Given the description of an element on the screen output the (x, y) to click on. 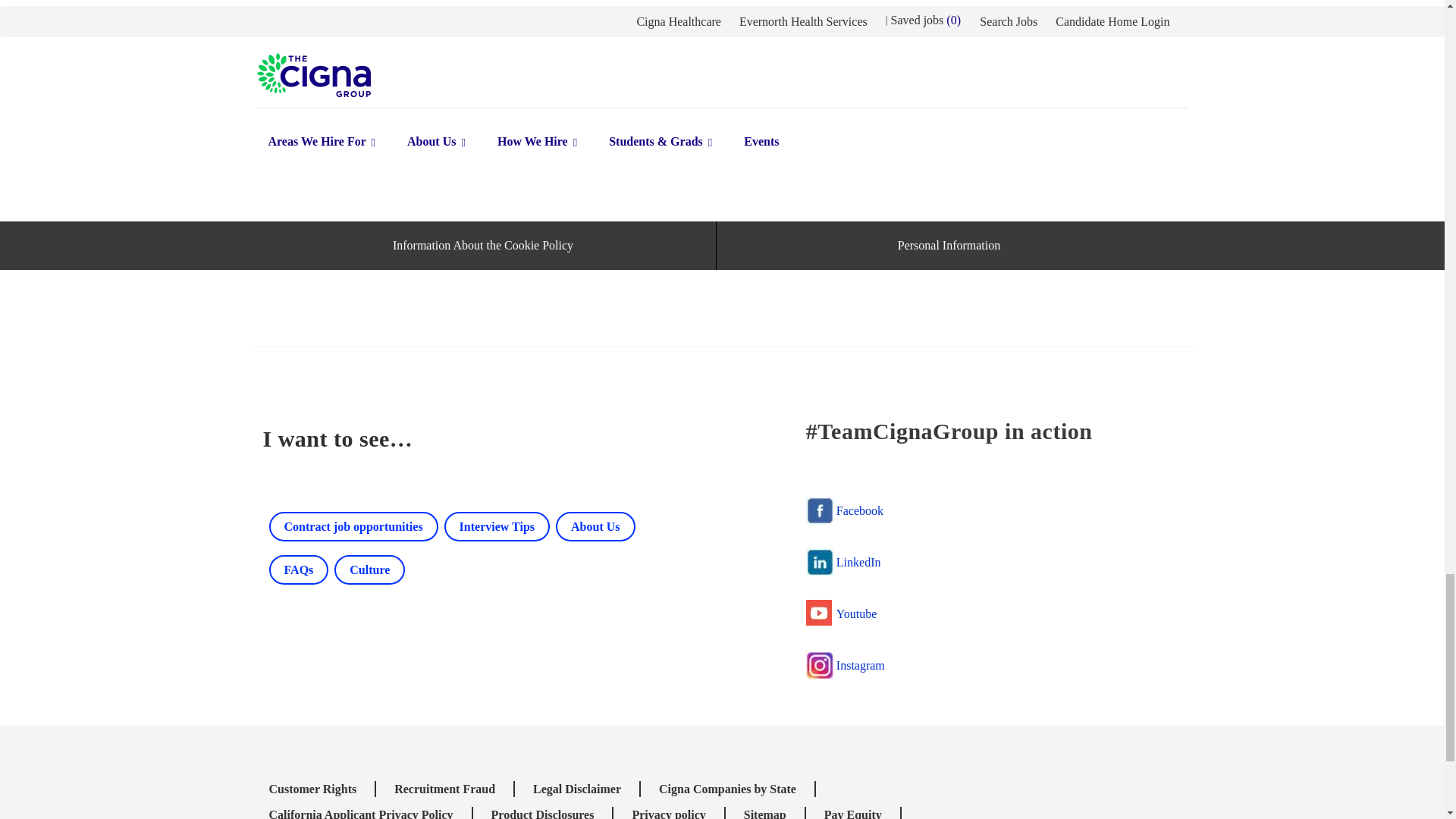
View contract job opportunities (298, 569)
Apply Now (352, 526)
Learn about Cigna's culture (330, 73)
Get Interview Tips (369, 569)
Visit the corporate website (497, 526)
